Given the description of an element on the screen output the (x, y) to click on. 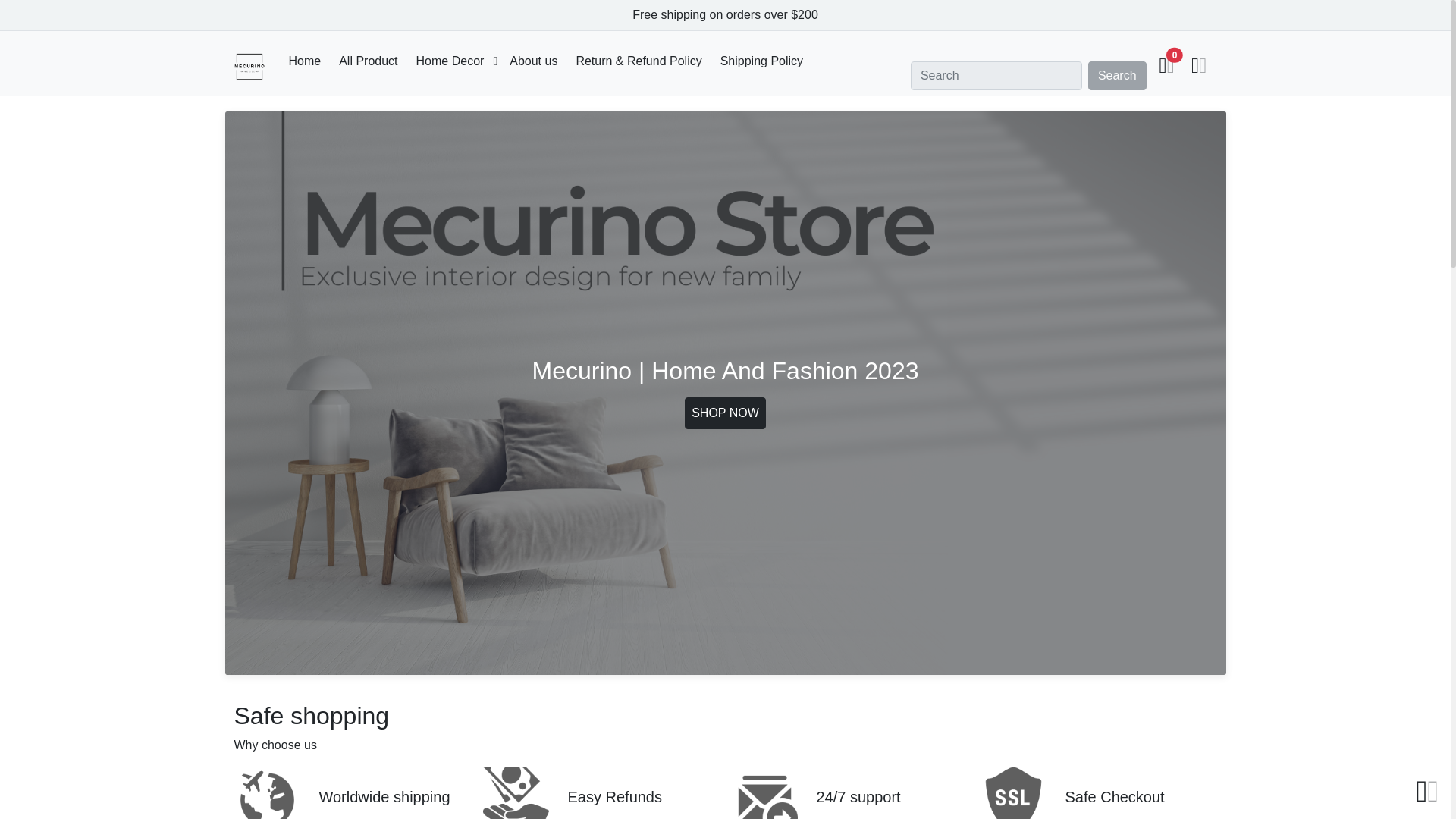
Home (304, 60)
Search (1117, 75)
About us (533, 60)
SHOP NOW (724, 413)
Home Decor (450, 60)
All Product (368, 60)
Easy Refunds (600, 792)
Safe Checkout (1098, 792)
Shipping Policy (761, 60)
Worldwide shipping (351, 792)
My acount (1197, 66)
